Given the description of an element on the screen output the (x, y) to click on. 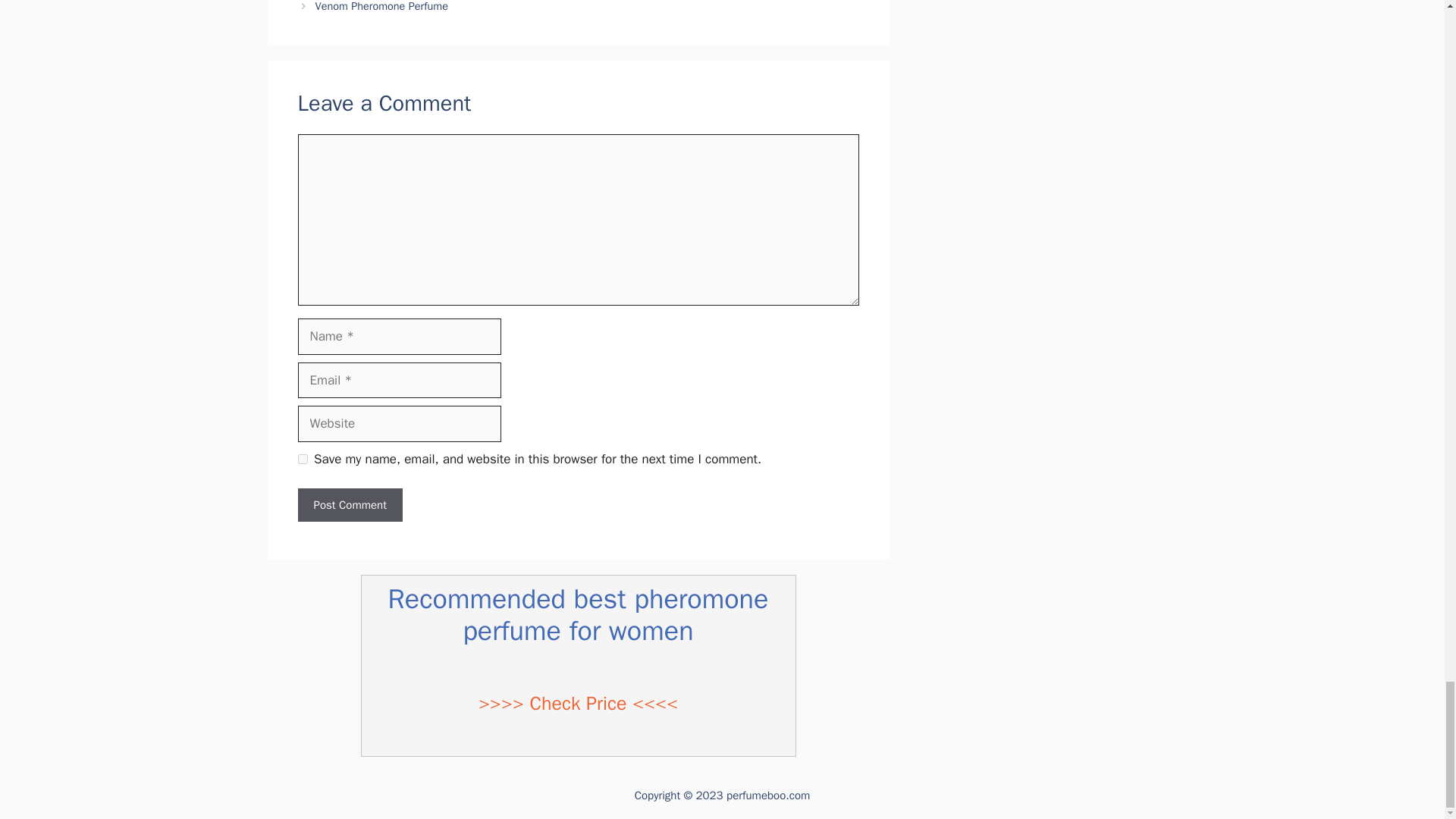
Venom Pheromone Perfume (381, 6)
Post Comment (349, 505)
yes (302, 459)
Post Comment (349, 505)
